Given the description of an element on the screen output the (x, y) to click on. 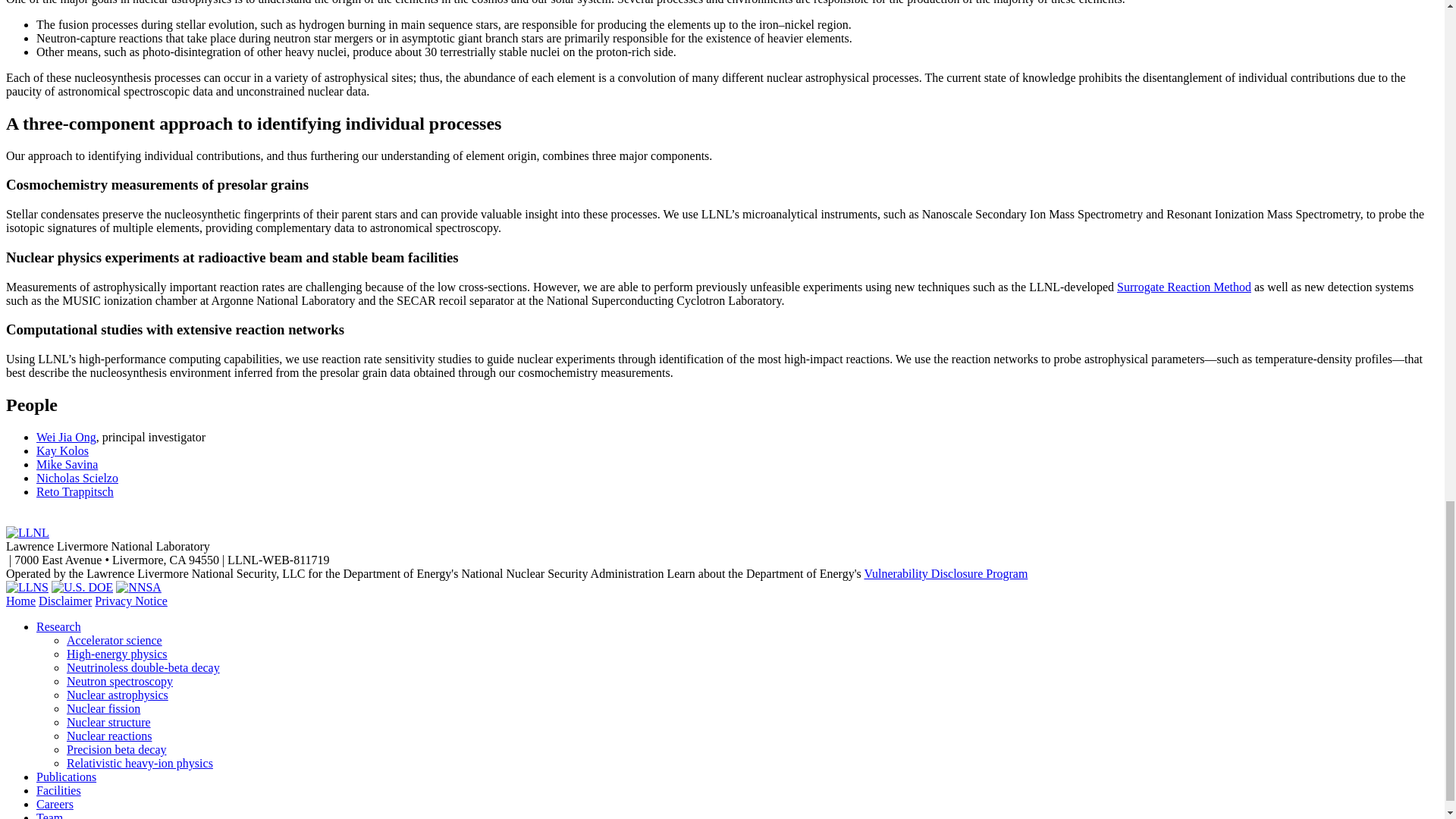
Research areas (58, 626)
